Given the description of an element on the screen output the (x, y) to click on. 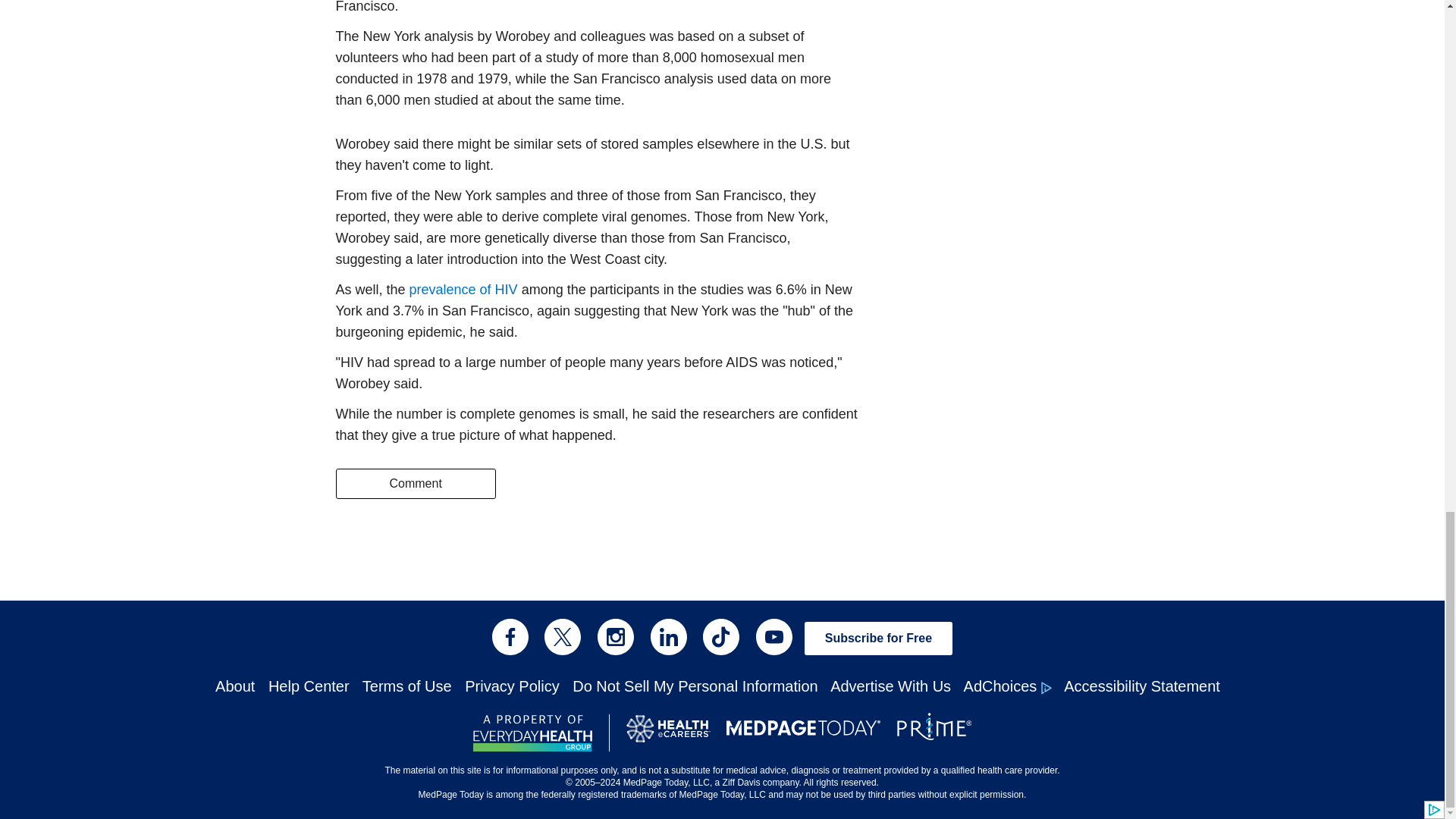
Visit us on TikTok. Opens in a new tab or window (721, 637)
Opens in a new tab or window (532, 732)
Visit us on Instagram. Opens in a new tab or window (614, 637)
Visit us on YouTube. Opens in a new tab or window (773, 637)
Visit us on Facebook. Opens in a new tab or window (510, 637)
Visit us on X. Opens in a new tab or window (562, 637)
Visit us on LinkedIn. Opens in a new tab or window (668, 637)
Opens in a new tab or window (463, 289)
